Given the description of an element on the screen output the (x, y) to click on. 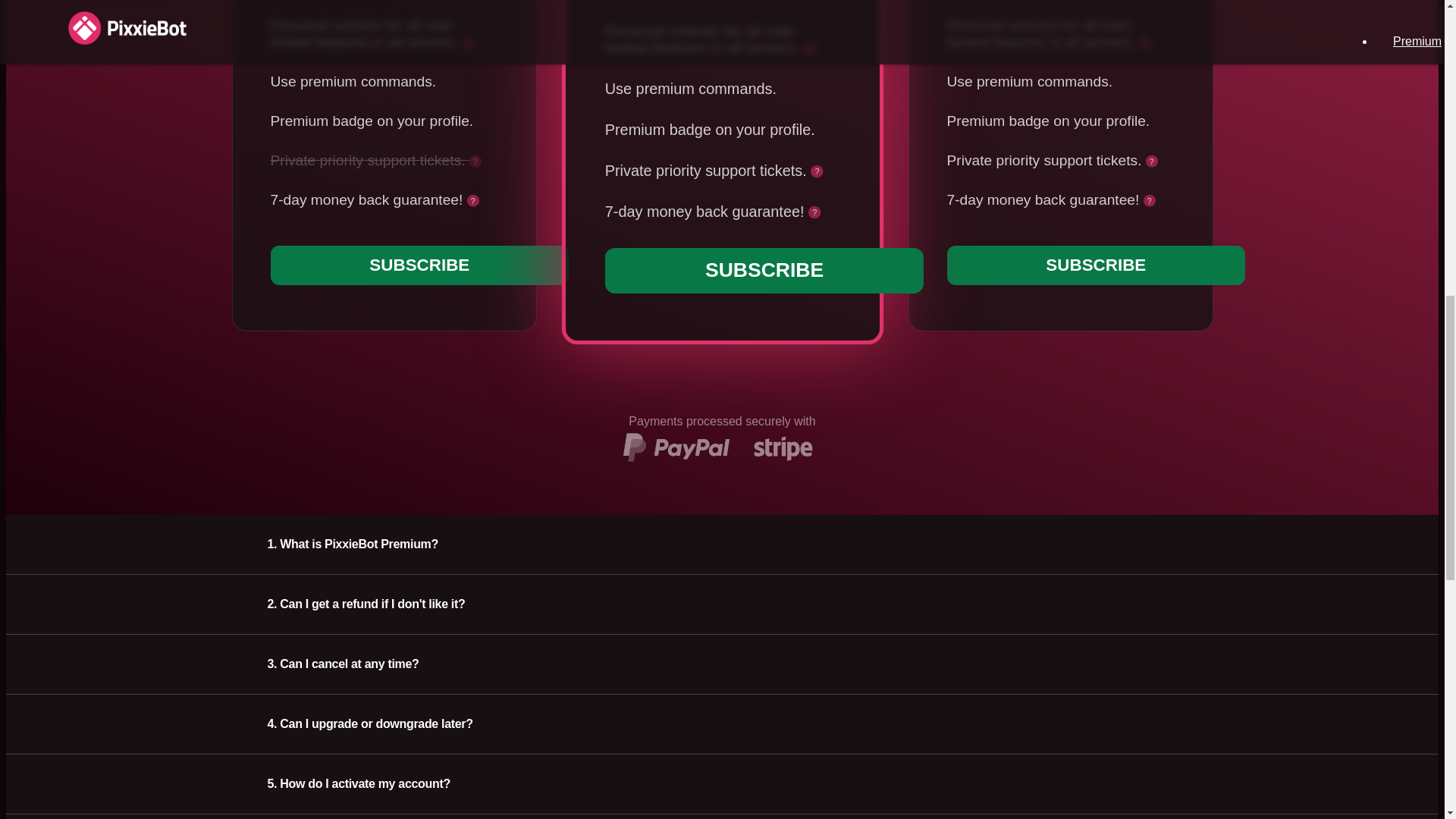
SUBSCRIBE (419, 265)
SUBSCRIBE (1095, 265)
SUBSCRIBE (758, 269)
